Given the description of an element on the screen output the (x, y) to click on. 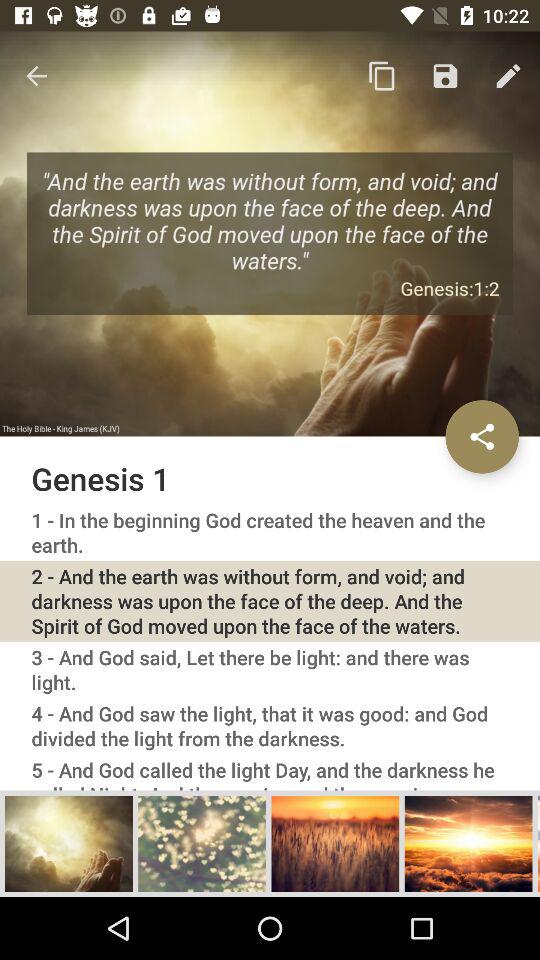
turn off the icon above genesis 1 icon (381, 75)
